Given the description of an element on the screen output the (x, y) to click on. 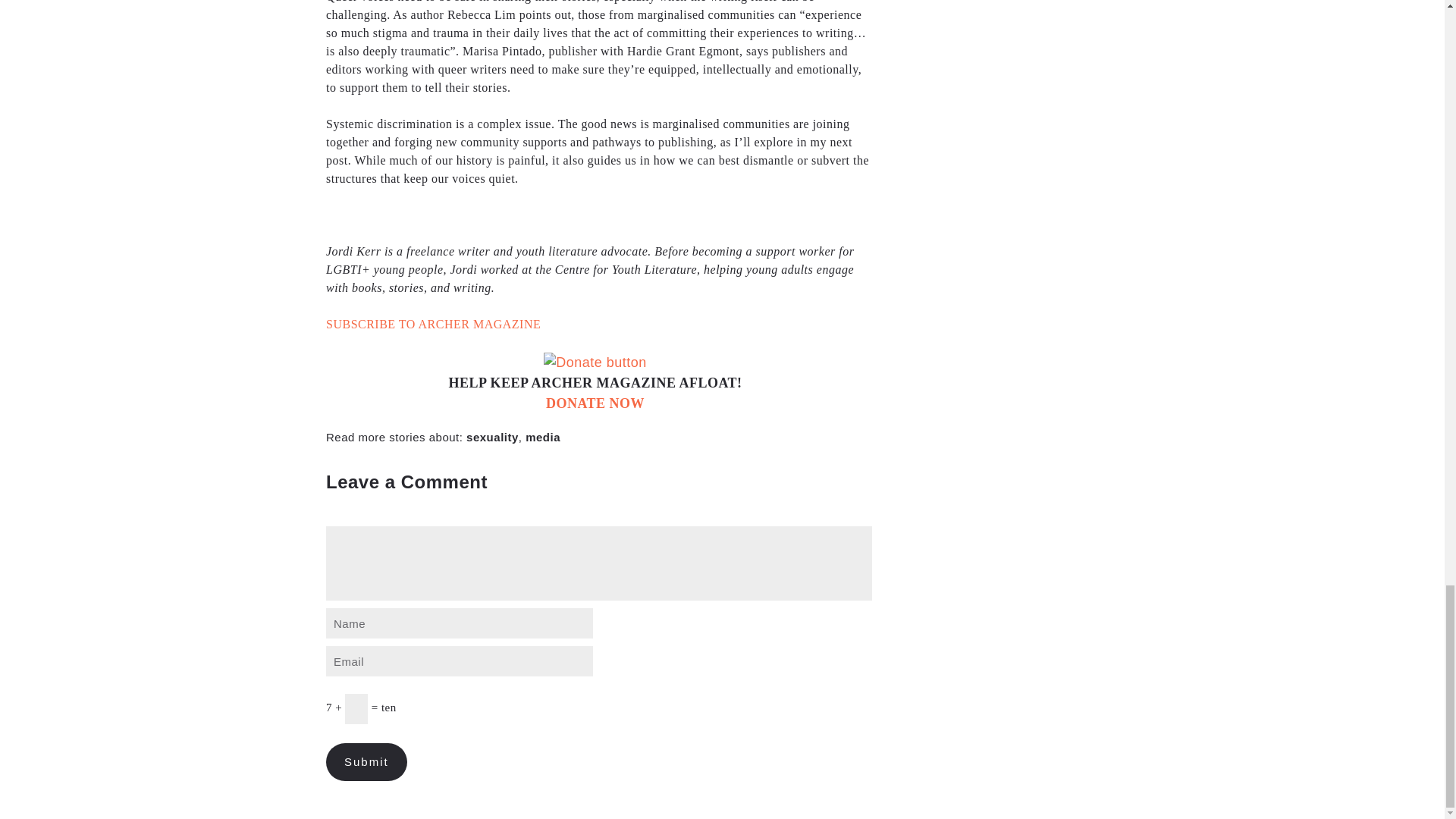
media (542, 436)
Submit (366, 761)
Email (459, 661)
DONATE NOW (595, 403)
SUBSCRIBE TO ARCHER MAGAZINE (433, 323)
Name (459, 623)
sexuality (491, 436)
